Given the description of an element on the screen output the (x, y) to click on. 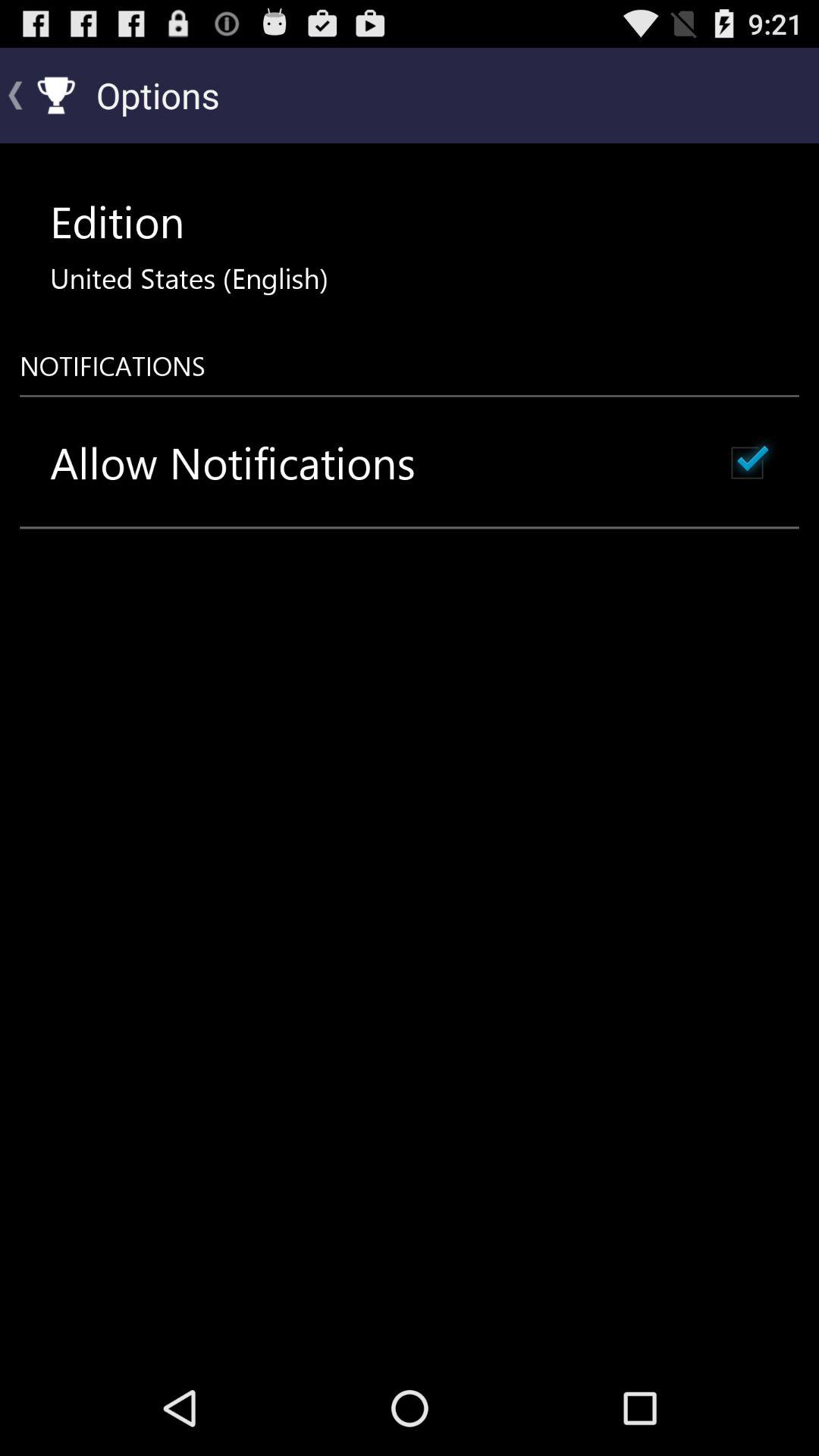
jump to allow notifications (232, 462)
